Given the description of an element on the screen output the (x, y) to click on. 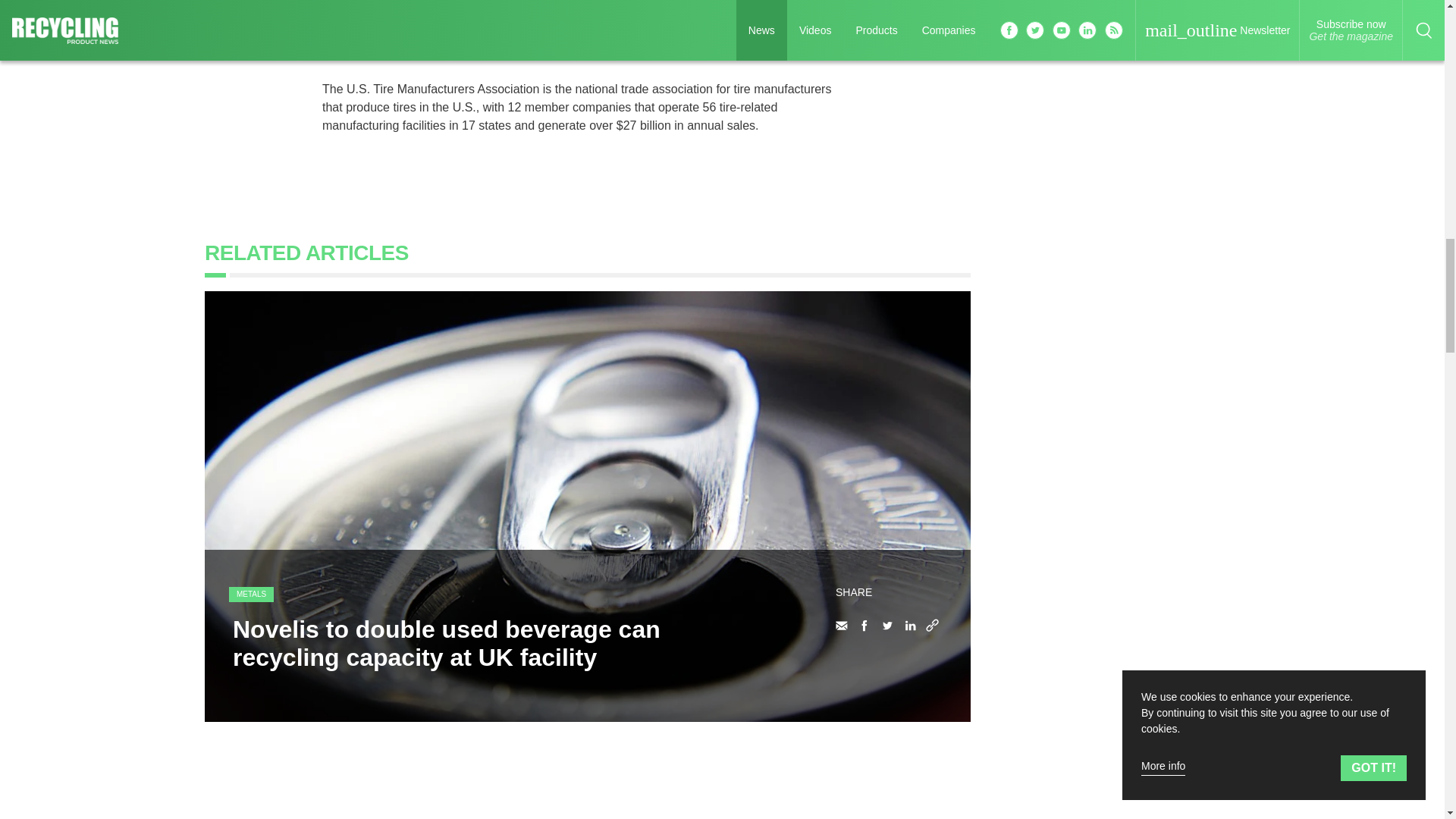
3rd party ad content (1125, 778)
METALS (250, 594)
3rd party ad content (1125, 468)
